Given the description of an element on the screen output the (x, y) to click on. 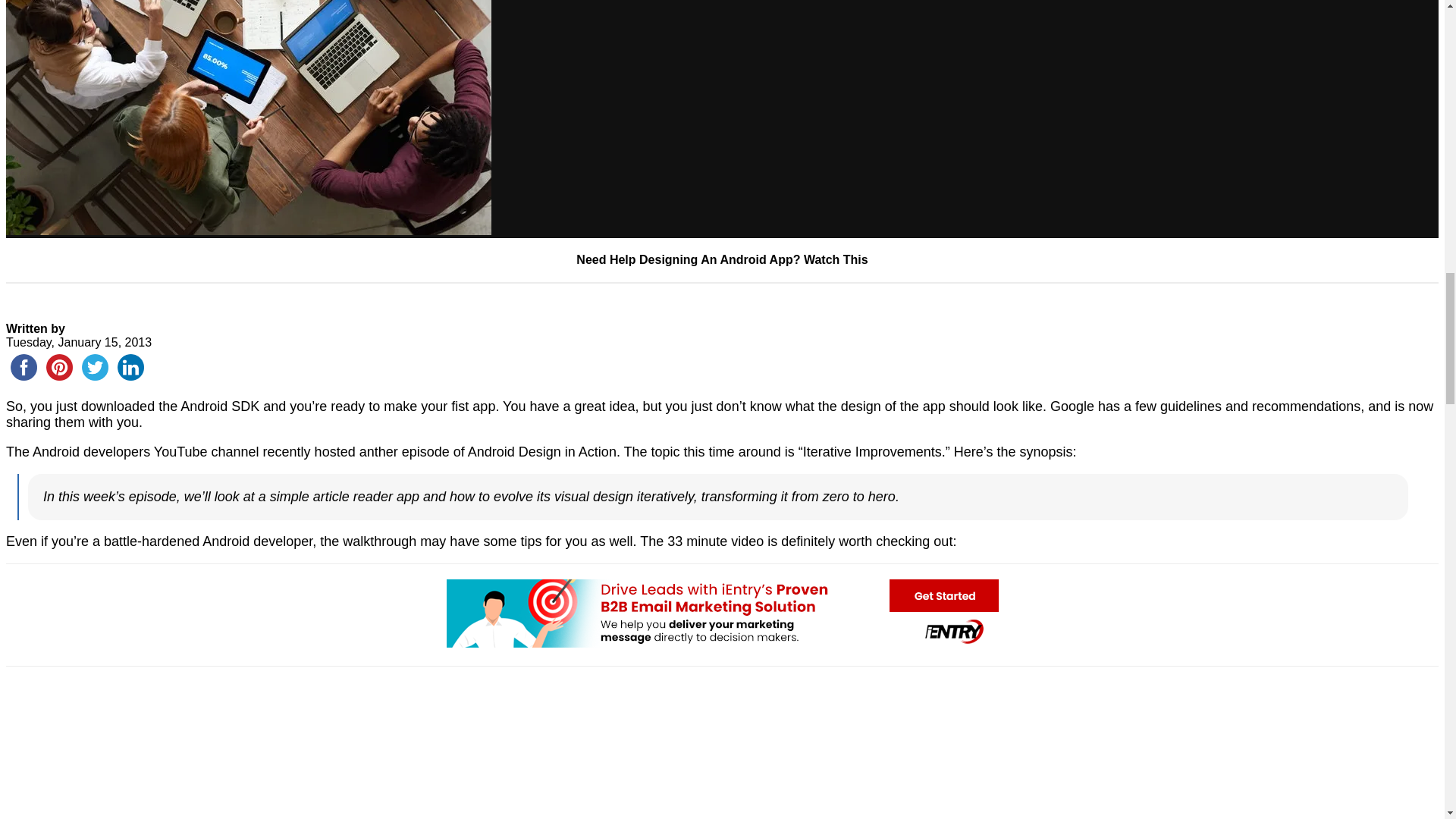
pinterest (59, 366)
facebook (23, 366)
twitter (95, 366)
linkedin (130, 366)
